Given the description of an element on the screen output the (x, y) to click on. 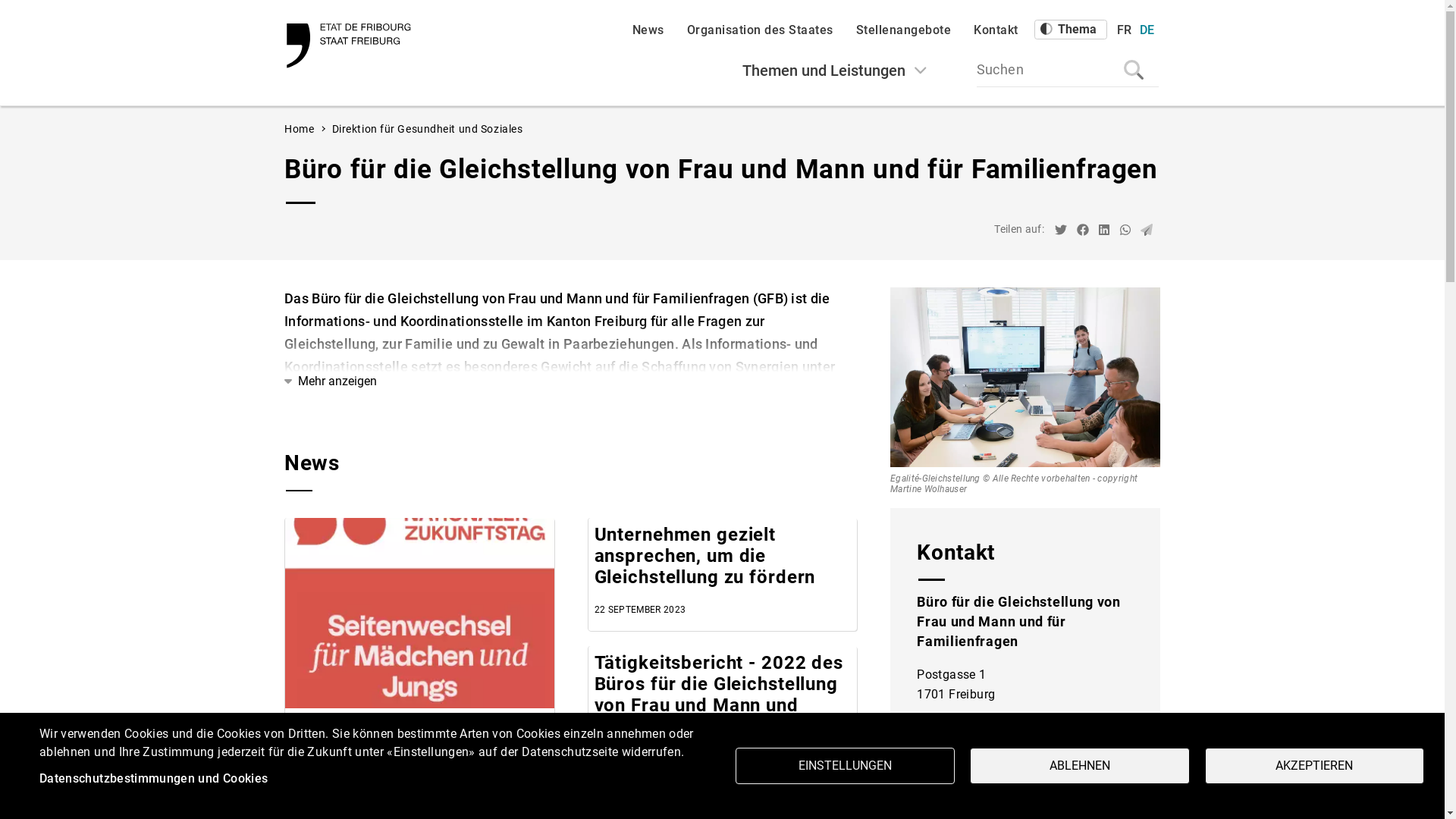
Anzeige Element type: text (1401, 790)
EINSTELLUNGEN Element type: text (844, 765)
Staat Freiburg Element type: hover (350, 45)
DE
((Aktive Sprache)) Element type: text (1146, 29)
Organisation des Staates Element type: text (760, 29)
Stellenangebote Element type: text (902, 29)
News Element type: text (648, 29)
Nationaler Zunkunftstag 2023 Element type: hover (419, 612)
Kontaktformular Element type: text (1024, 799)
Kontakt Element type: text (995, 29)
Teilen auf Facebook Element type: hover (1082, 230)
ABLEHNEN Element type: text (1079, 765)
Themen und Leistungen Element type: text (834, 69)
Mehr anzeigen Element type: text (330, 381)
FR Element type: text (1123, 29)
Datenschutzbestimmungen und Cookies Element type: text (153, 778)
Thema Element type: text (1070, 29)
Teilen auf E-Mail Element type: hover (1146, 230)
Teilen auf WhatsApp Element type: hover (1125, 230)
Suchen Element type: text (1067, 70)
AKZEPTIEREN Element type: text (1314, 765)
Home Element type: text (298, 128)
Teilen auf Linkedin Element type: hover (1103, 230)
Teilen auf Twitter Element type: hover (1060, 230)
